Given the description of an element on the screen output the (x, y) to click on. 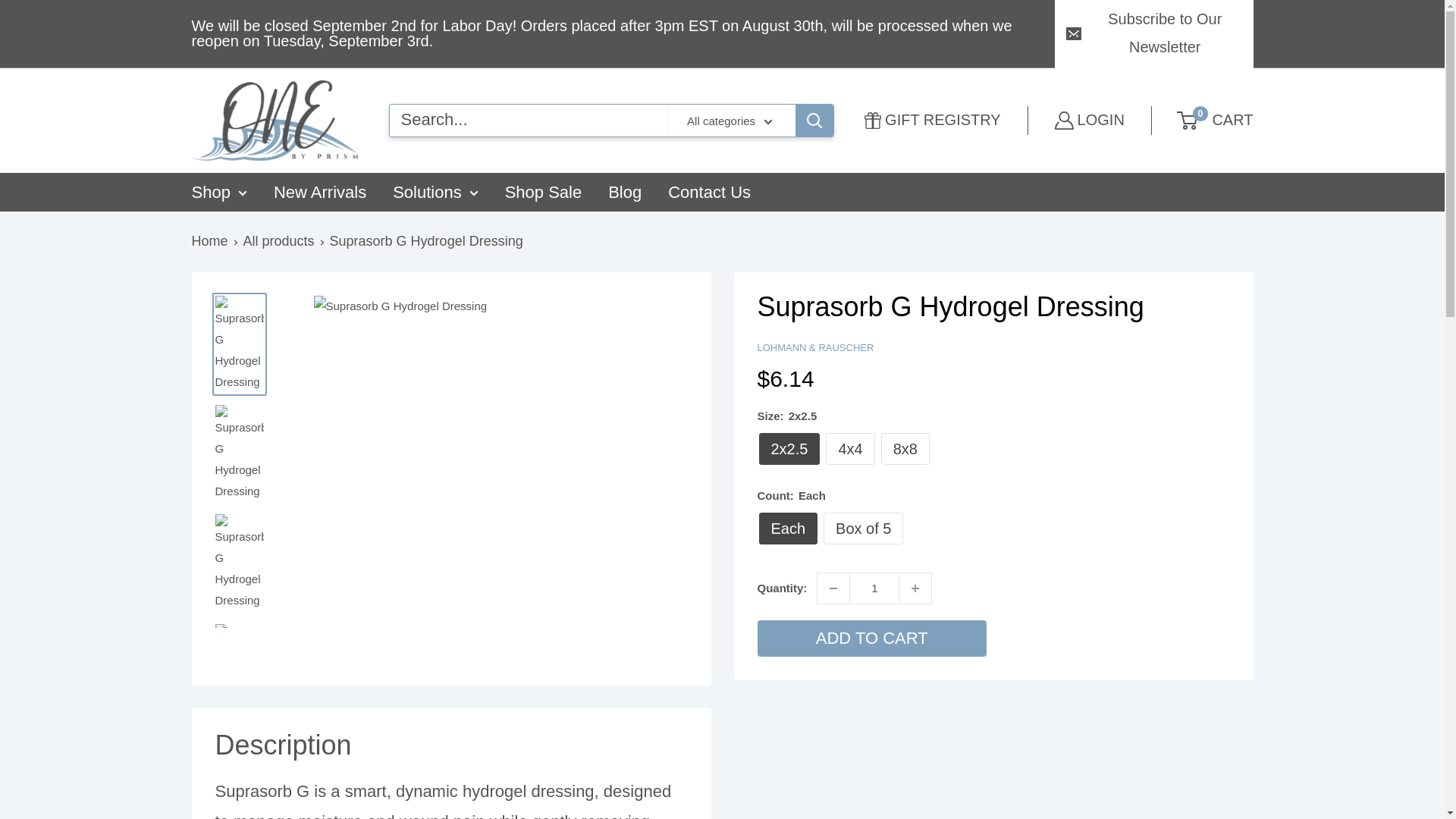
One by Prism (274, 120)
8x8 (905, 449)
4x4 (850, 449)
2x2.5 (788, 449)
Subscribe to Our Newsletter (1153, 33)
1 (874, 588)
Each (787, 528)
Increase quantity by 1 (914, 588)
Decrease quantity by 1 (833, 588)
Box of 5 (863, 528)
